Given the description of an element on the screen output the (x, y) to click on. 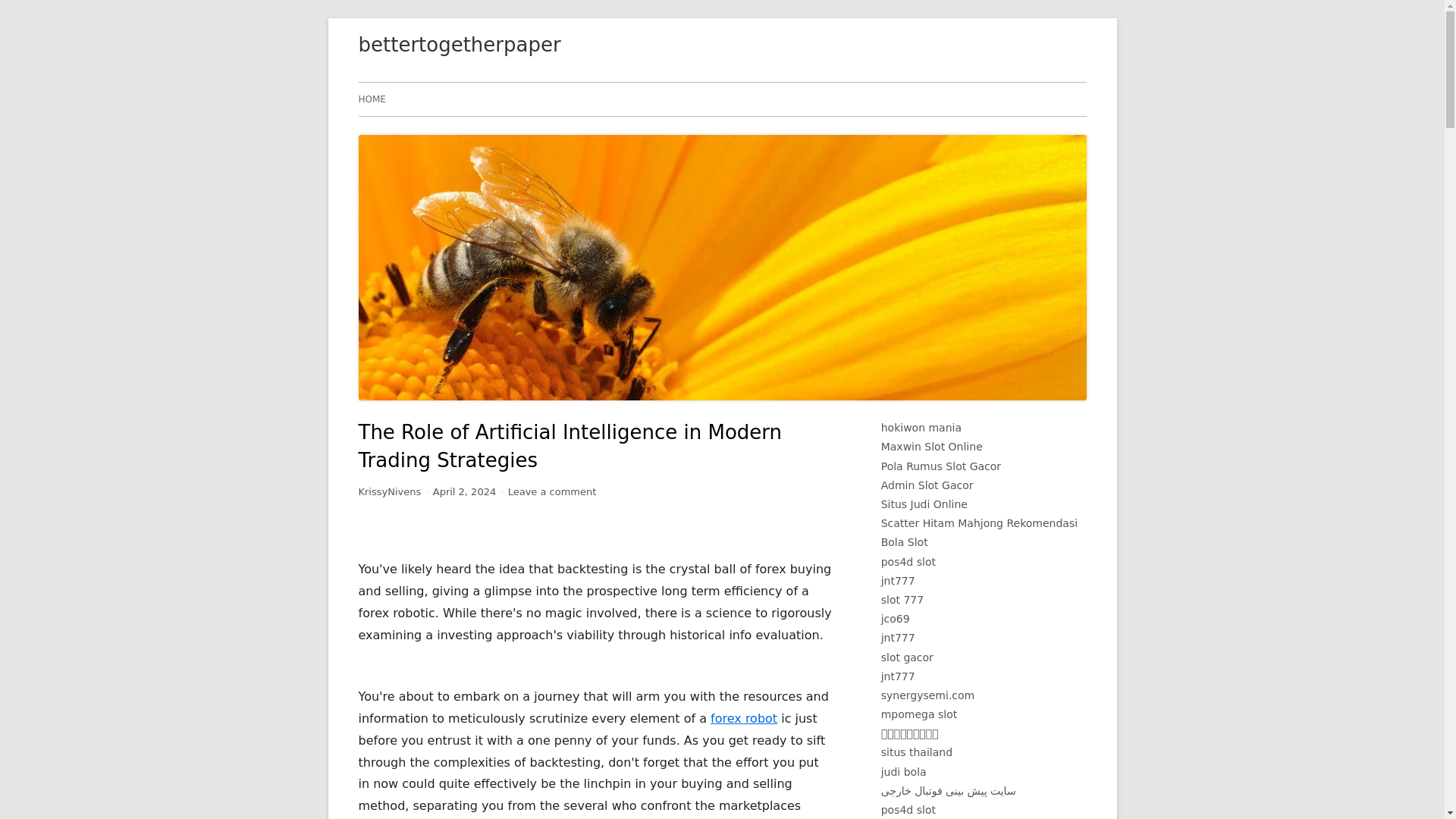
jnt777 (897, 676)
mpomega slot (919, 714)
hokiwon mania (920, 427)
pos4d slot (908, 562)
jnt777 (897, 637)
judi bola (903, 771)
pos4d slot (908, 809)
slot 777 (901, 599)
Situs Judi Online (924, 503)
Admin Slot Gacor (927, 485)
Bola Slot (904, 541)
situs thailand (916, 752)
slot gacor (906, 657)
Pola Rumus Slot Gacor (940, 466)
